Given the description of an element on the screen output the (x, y) to click on. 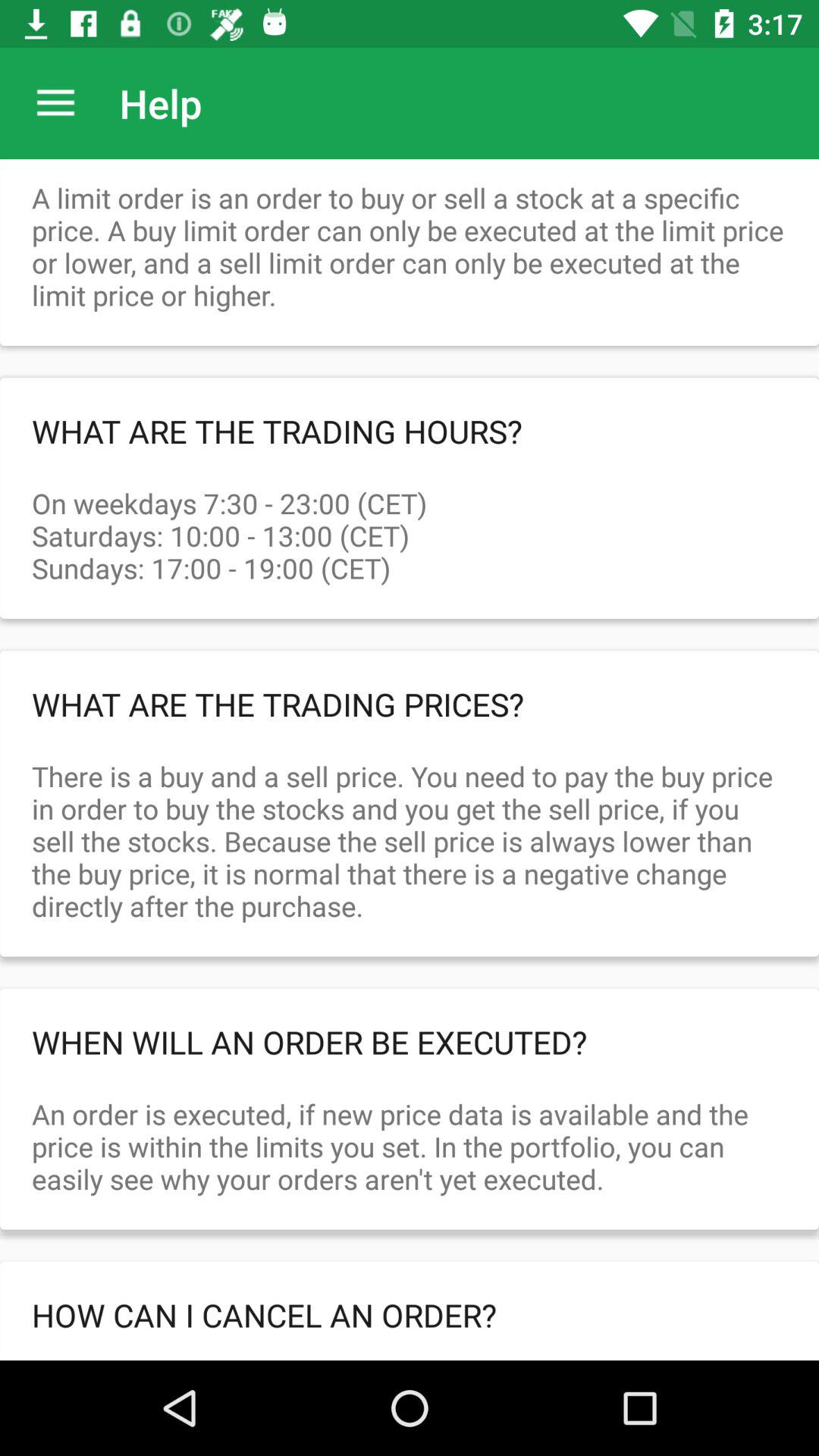
choose the item below what are the icon (409, 519)
